Given the description of an element on the screen output the (x, y) to click on. 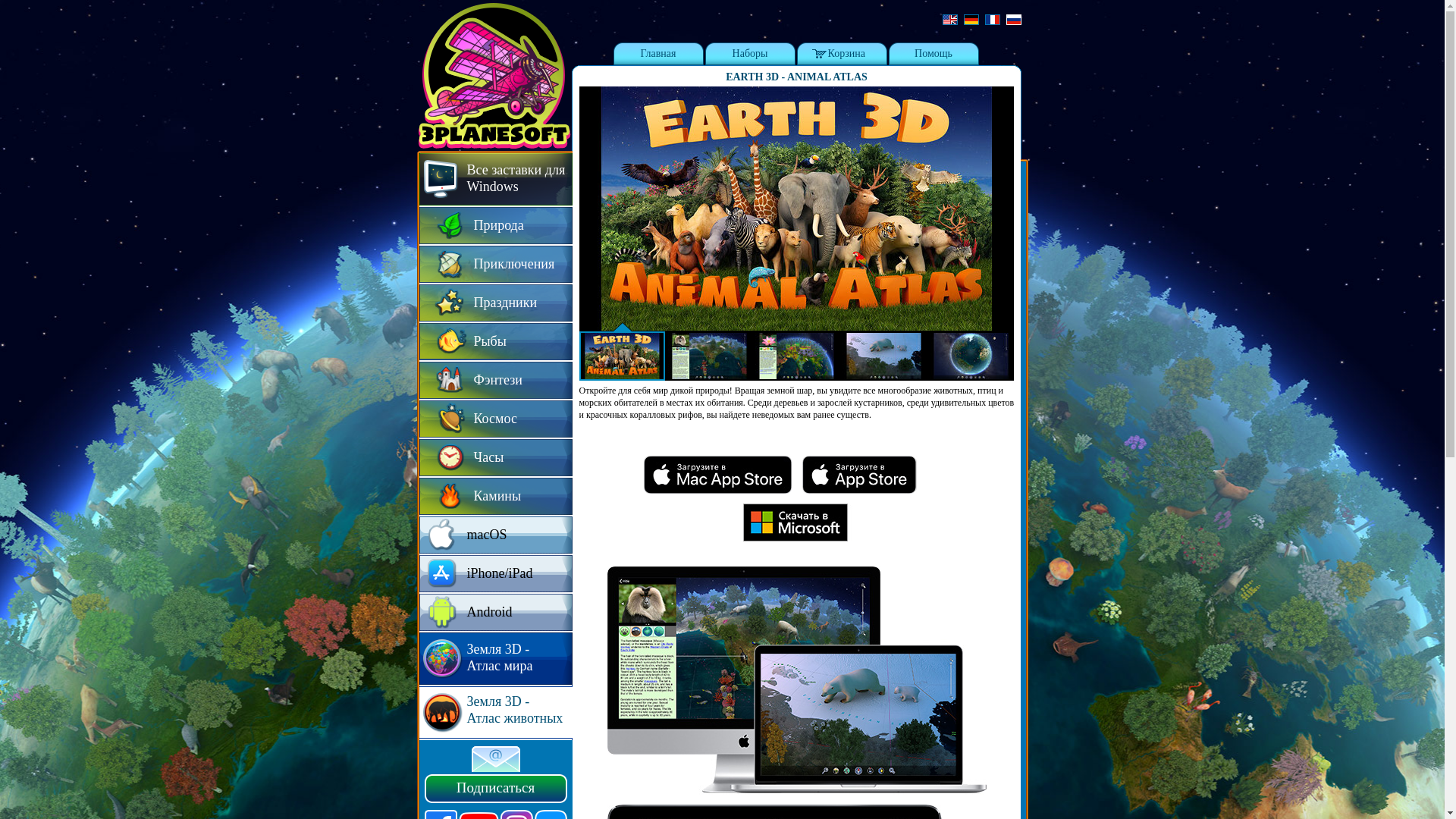
Subscribe Element type: hover (495, 758)
English Element type: hover (949, 19)
Android Element type: text (494, 612)
Deutsch Element type: hover (970, 19)
iPhone/iPad Element type: text (494, 574)
macOS Element type: text (494, 535)
